Given the description of an element on the screen output the (x, y) to click on. 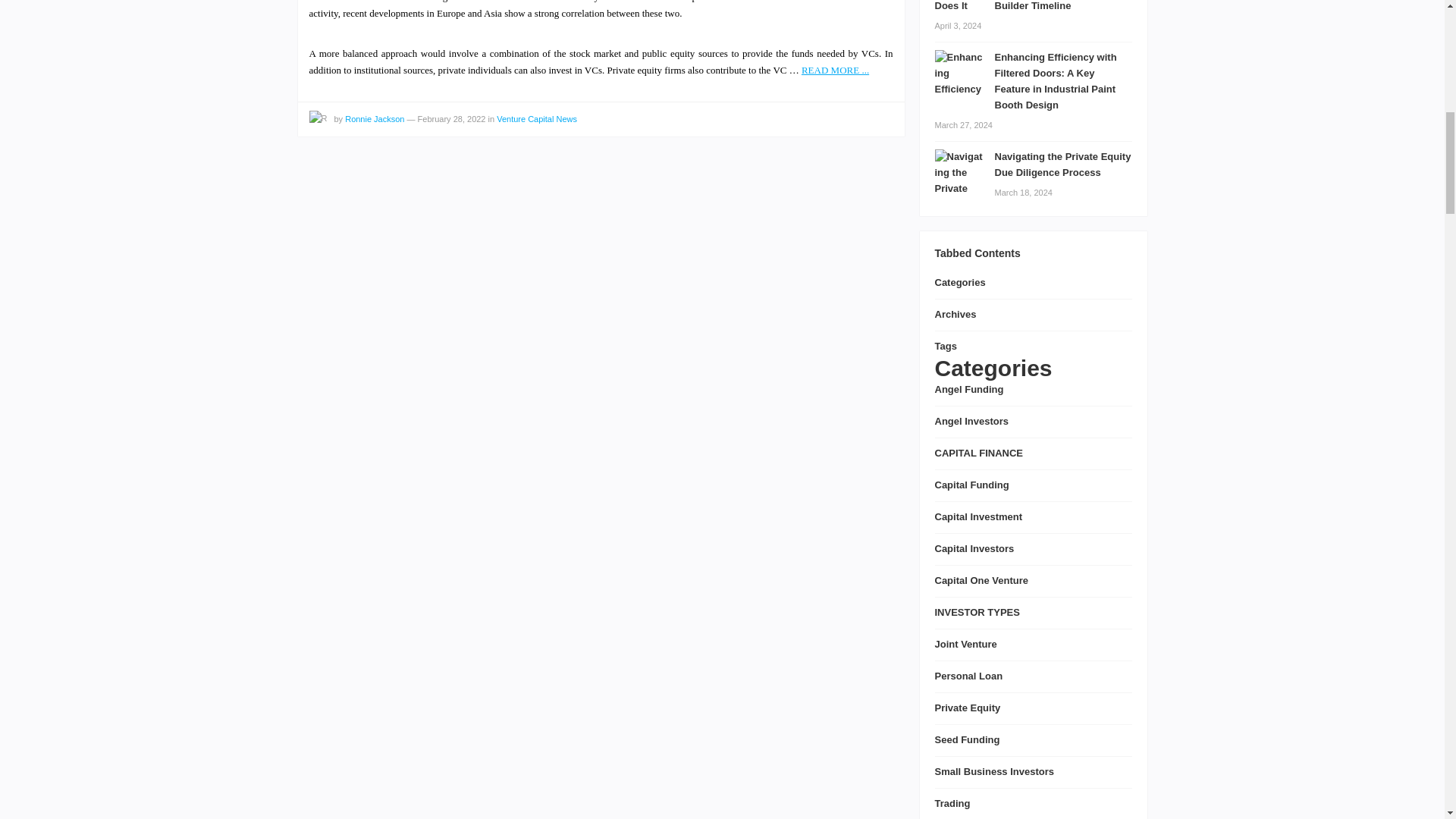
READ MORE ... (835, 70)
View all posts by Ronnie Jackson (317, 119)
Ronnie Jackson (374, 118)
